Given the description of an element on the screen output the (x, y) to click on. 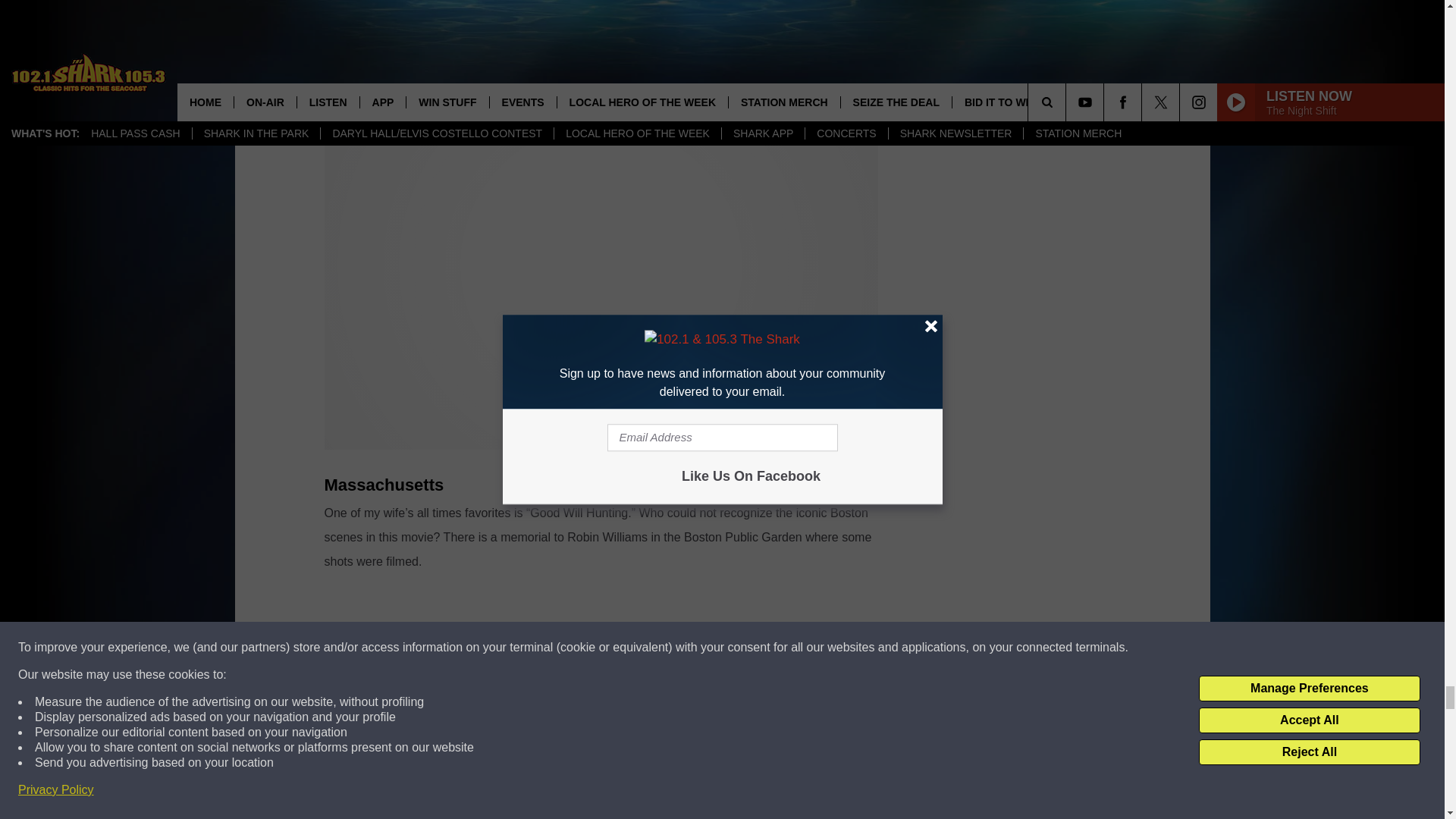
YouTube video player (600, 702)
YouTube video player (600, 18)
